Given the description of an element on the screen output the (x, y) to click on. 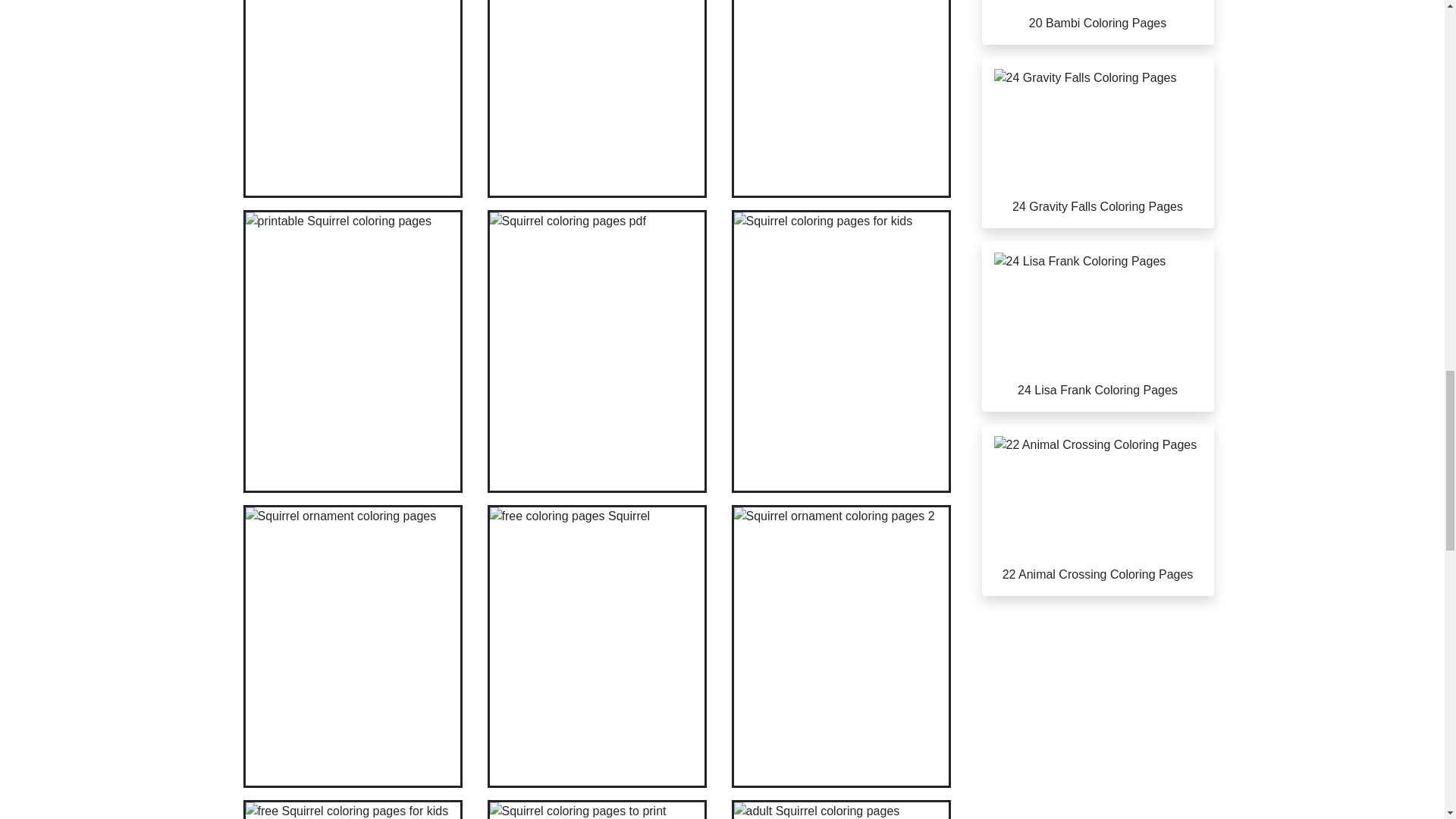
Squirrel Coloring Pages 10 (596, 99)
22 Animal Crossing Coloring Pages (1096, 510)
Squirrel Coloring Pages 3 (353, 99)
Squirrel Coloring Pages 13 (596, 809)
24 Gravity Falls Coloring Pages (1096, 142)
Squirrel Coloring Pages 6 (353, 809)
20 Bambi Coloring Pages (1096, 22)
24 Lisa Frank Coloring Pages (1096, 325)
